Given the description of an element on the screen output the (x, y) to click on. 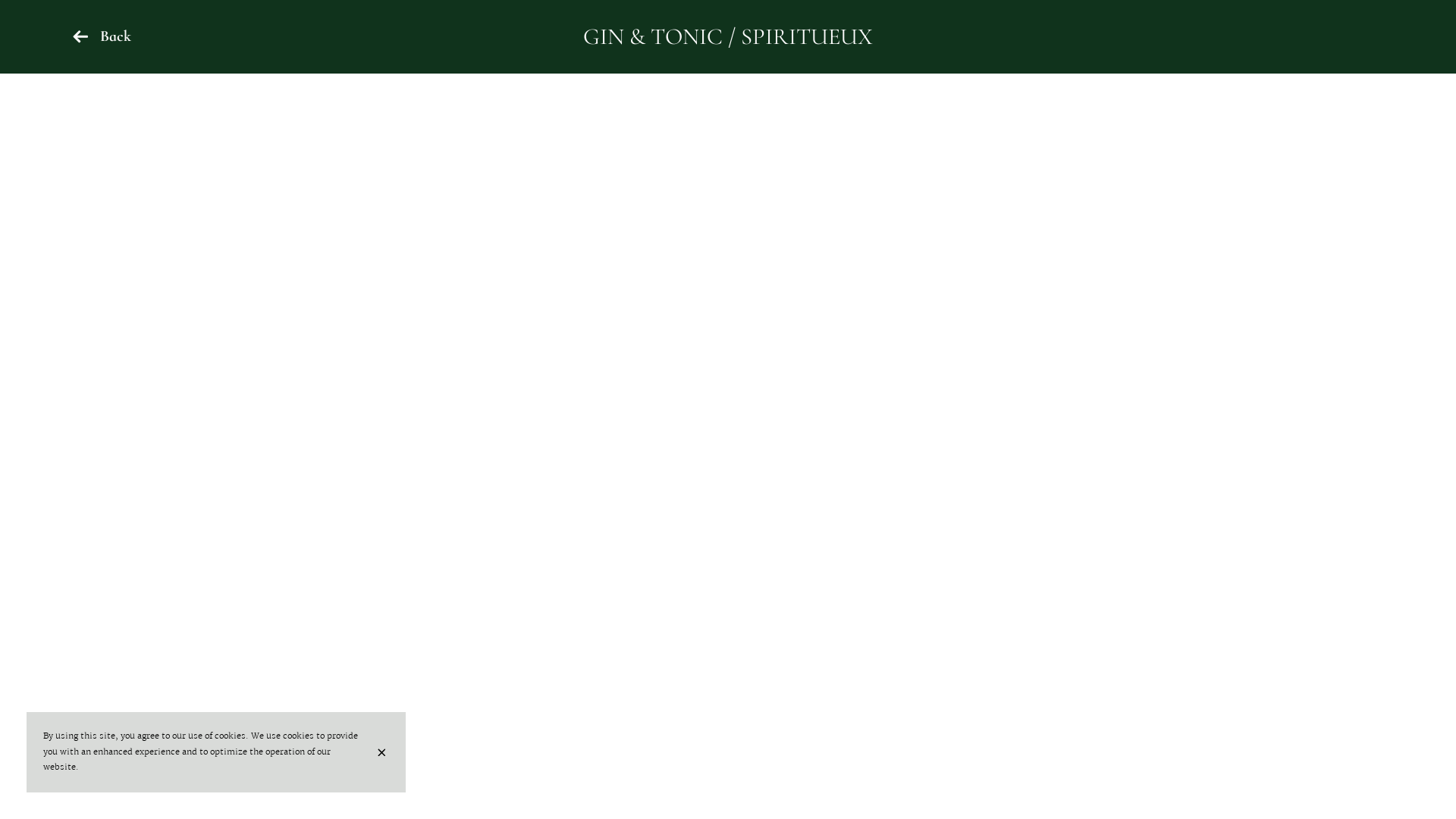
Back Element type: text (101, 36)
Close the cookie information banner Element type: hover (382, 751)
